Given the description of an element on the screen output the (x, y) to click on. 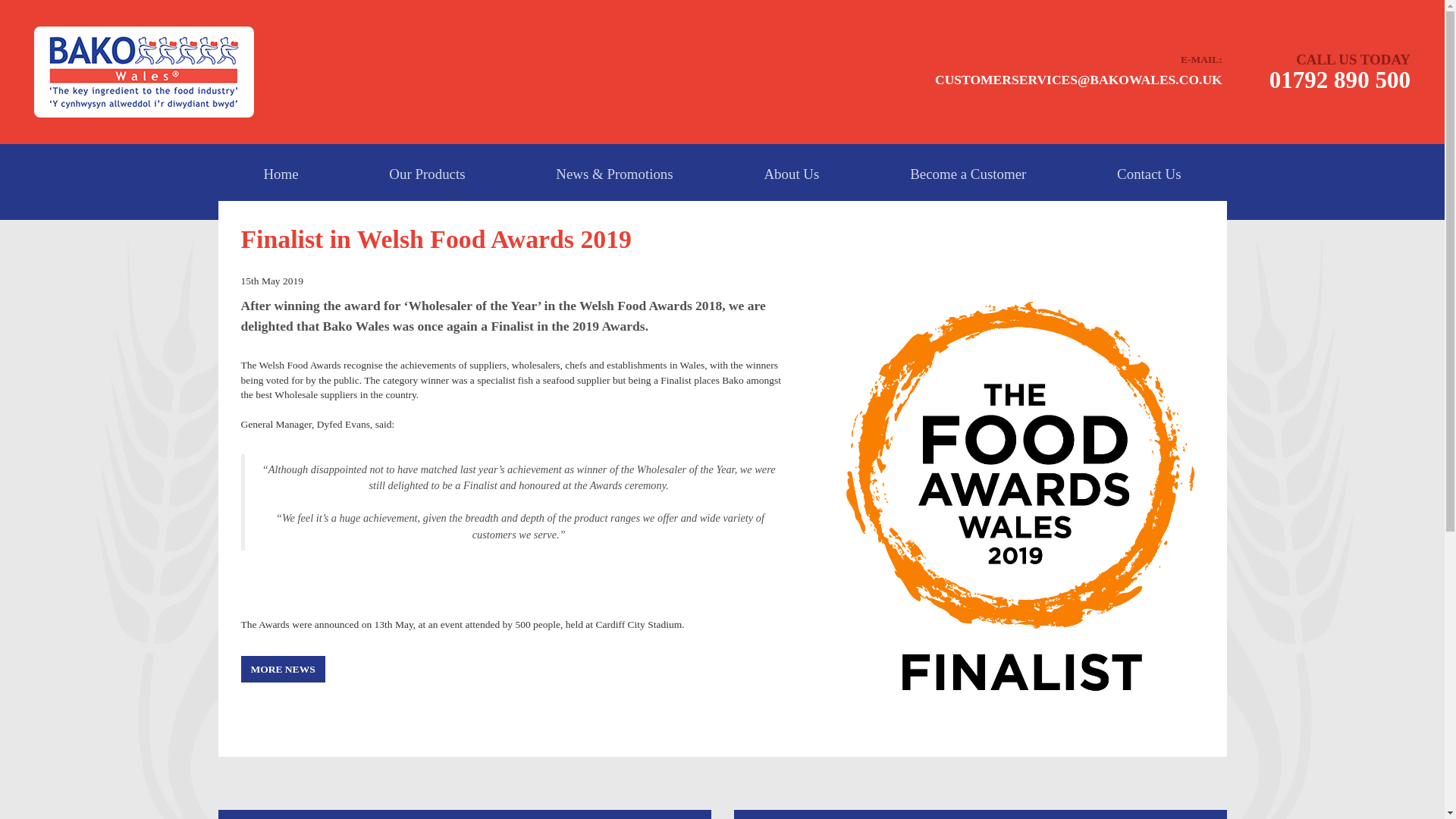
Become a Customer (968, 174)
01792 890 500 (1339, 79)
Home (280, 174)
About Us (790, 174)
Our Products (426, 174)
Contact Us (1148, 174)
MORE NEWS (282, 669)
